Given the description of an element on the screen output the (x, y) to click on. 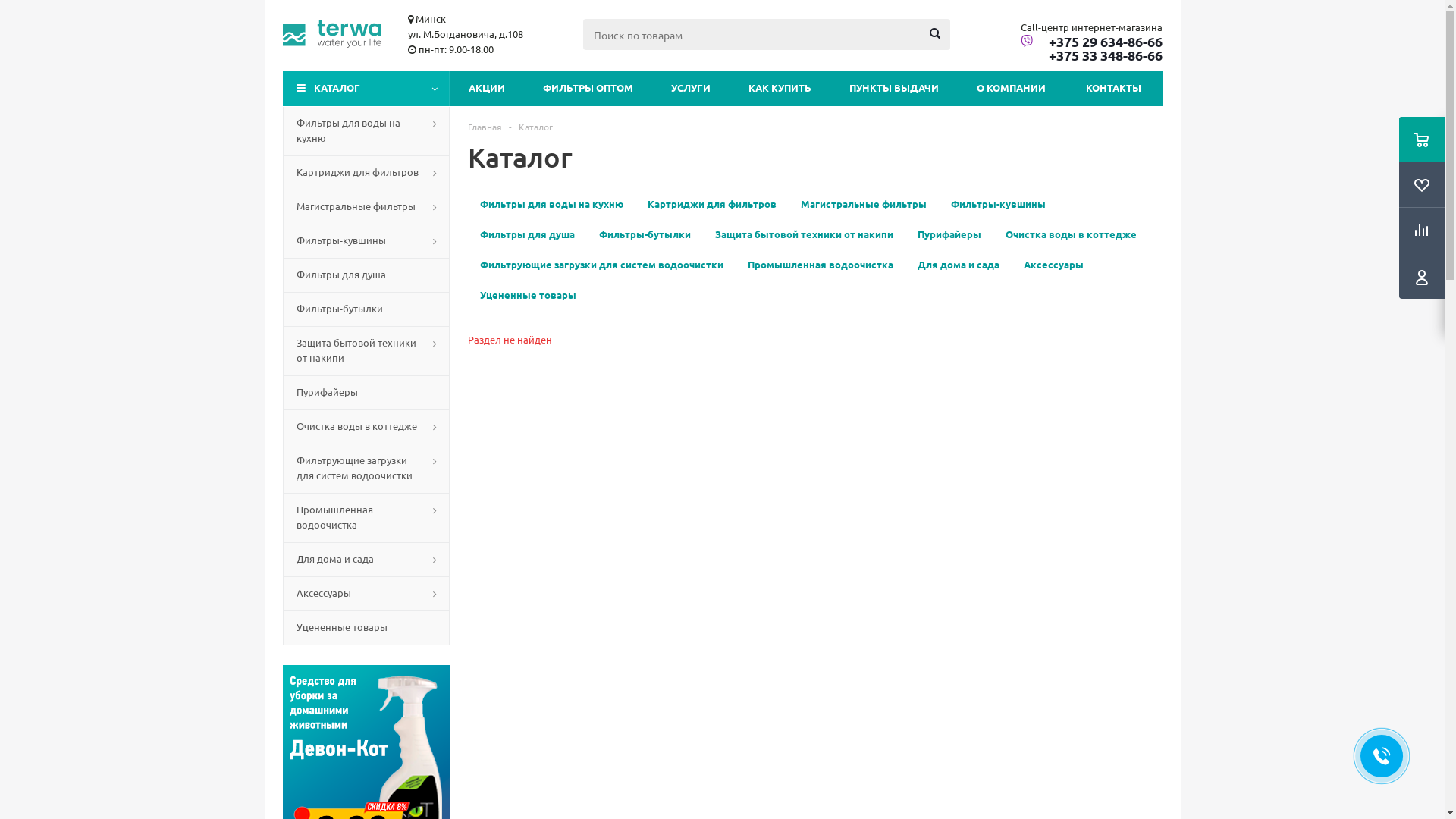
+375 29 634-86-66 Element type: text (1091, 41)
+375 33 348-86-66 Element type: text (1091, 55)
